Given the description of an element on the screen output the (x, y) to click on. 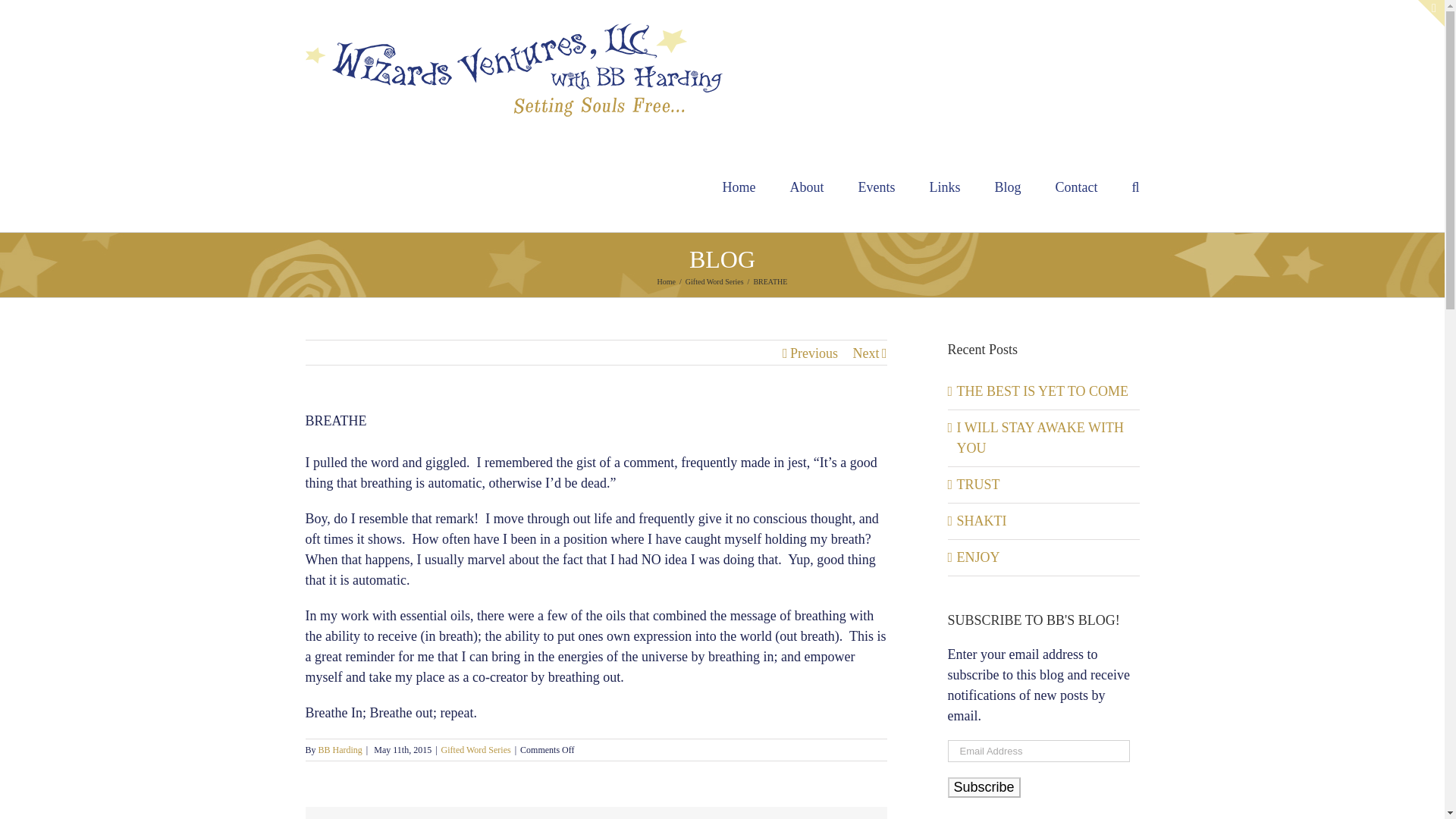
Home (666, 281)
Posts by BB Harding (340, 749)
Previous (814, 353)
Gifted Word Series (476, 749)
Subscribe (983, 787)
Gifted Word Series (714, 281)
BB Harding (340, 749)
Next (865, 353)
